Given the description of an element on the screen output the (x, y) to click on. 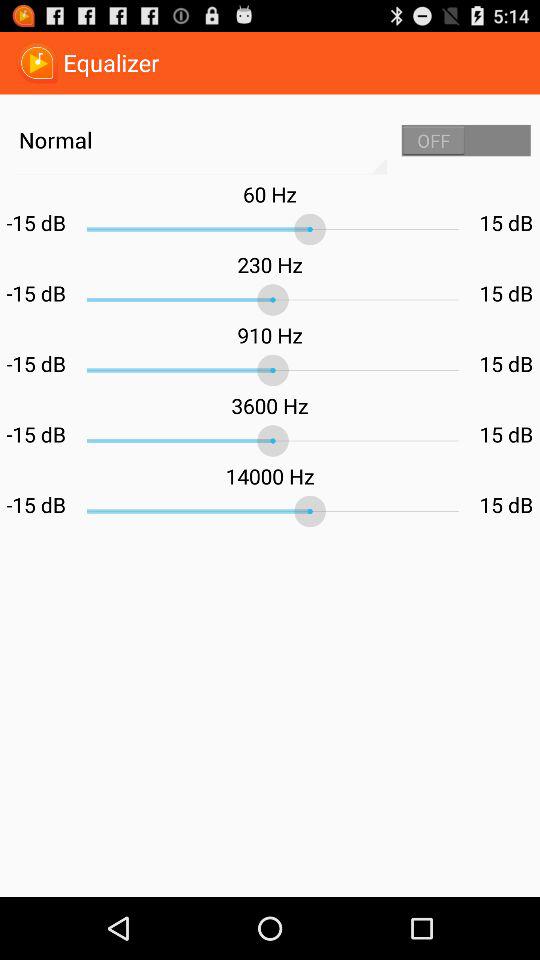
tap app to the right of normal icon (465, 140)
